Given the description of an element on the screen output the (x, y) to click on. 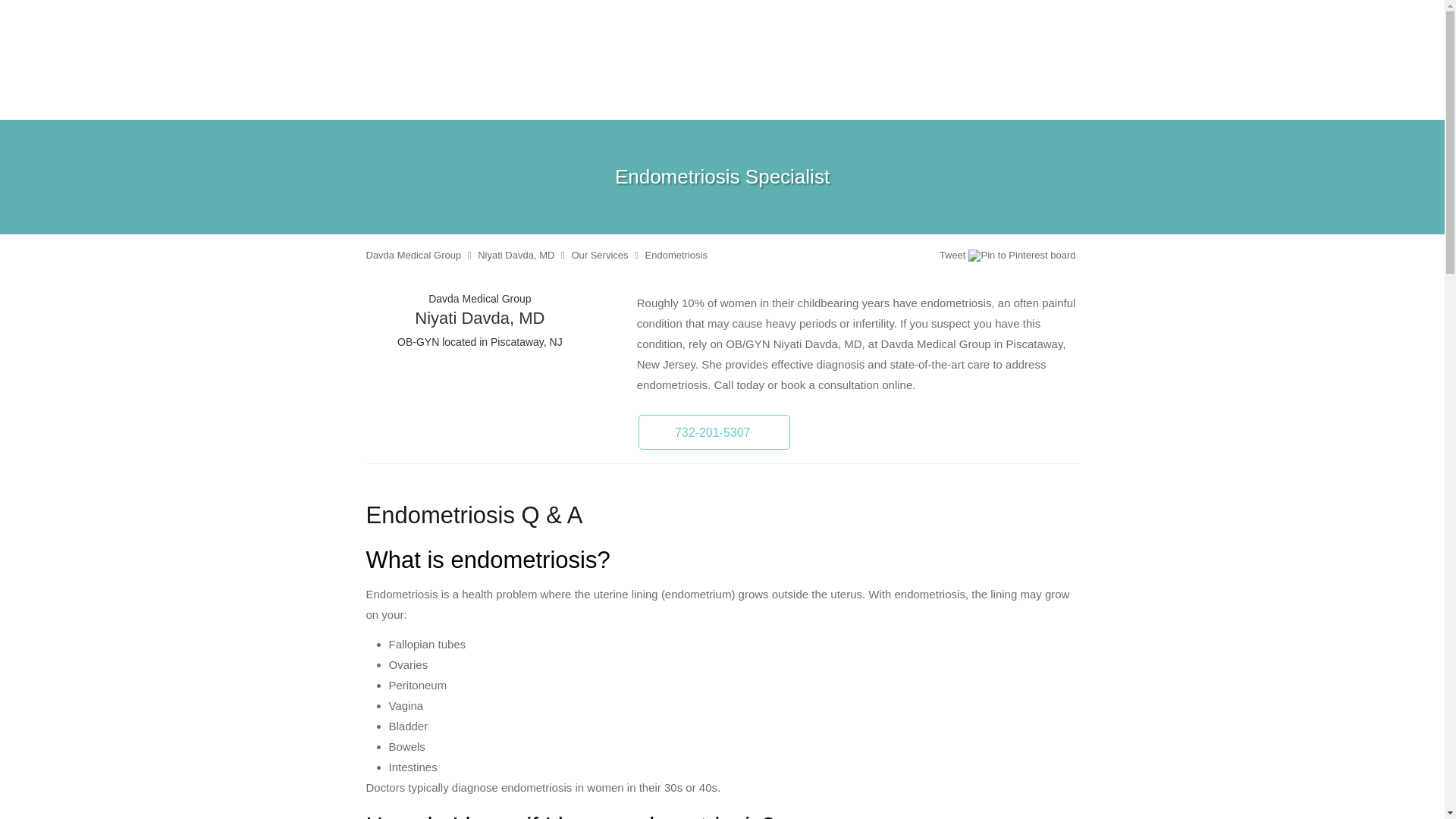
Niyati Davda, MD (515, 255)
Our Services (598, 255)
Tweet (952, 255)
Davda Medical Group (413, 255)
Skip to main content (74, 66)
732-201-5307 (714, 431)
Facebook social button (880, 257)
Endometriosis (676, 255)
